Given the description of an element on the screen output the (x, y) to click on. 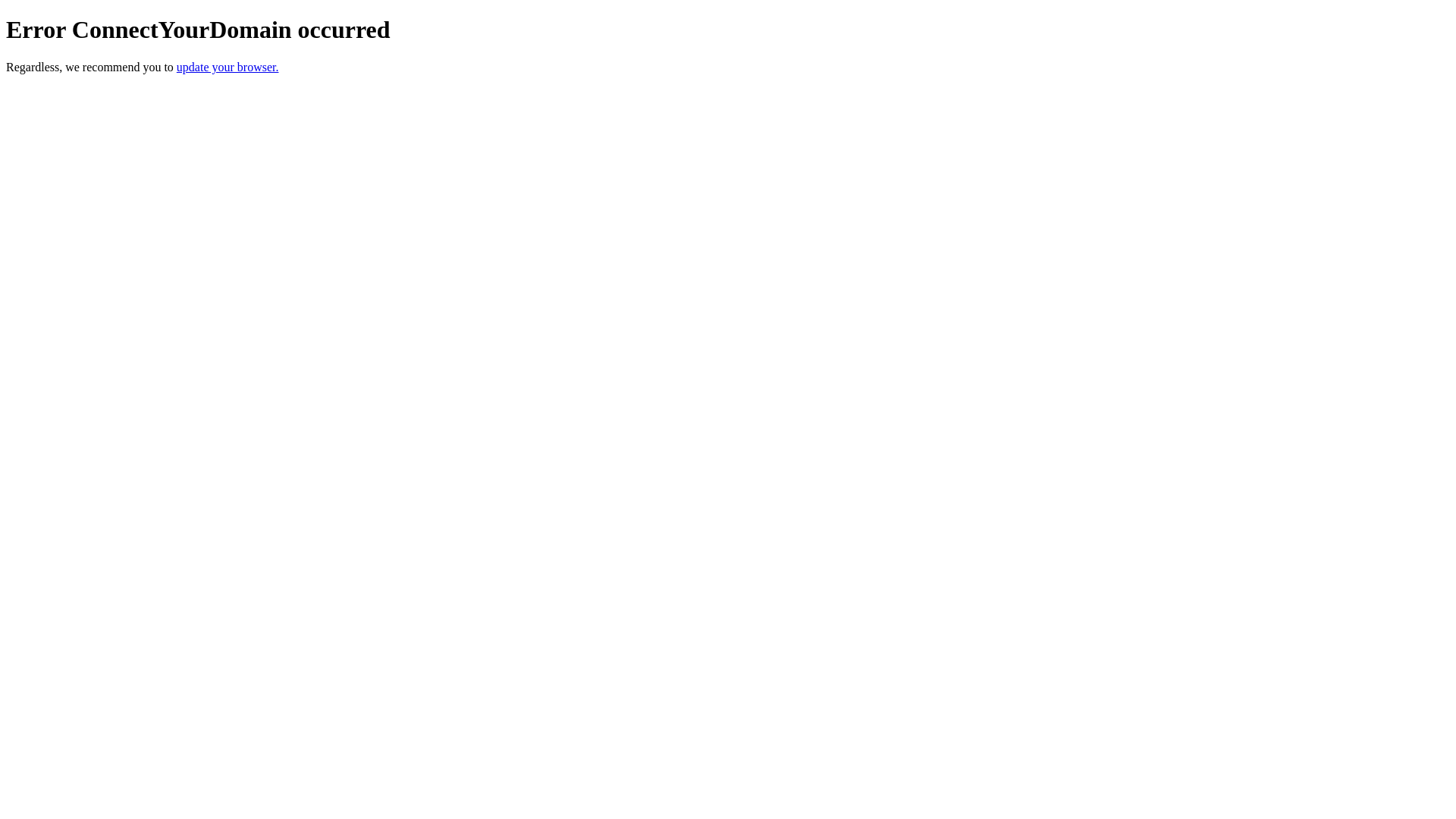
update your browser. Element type: text (227, 66)
